Given the description of an element on the screen output the (x, y) to click on. 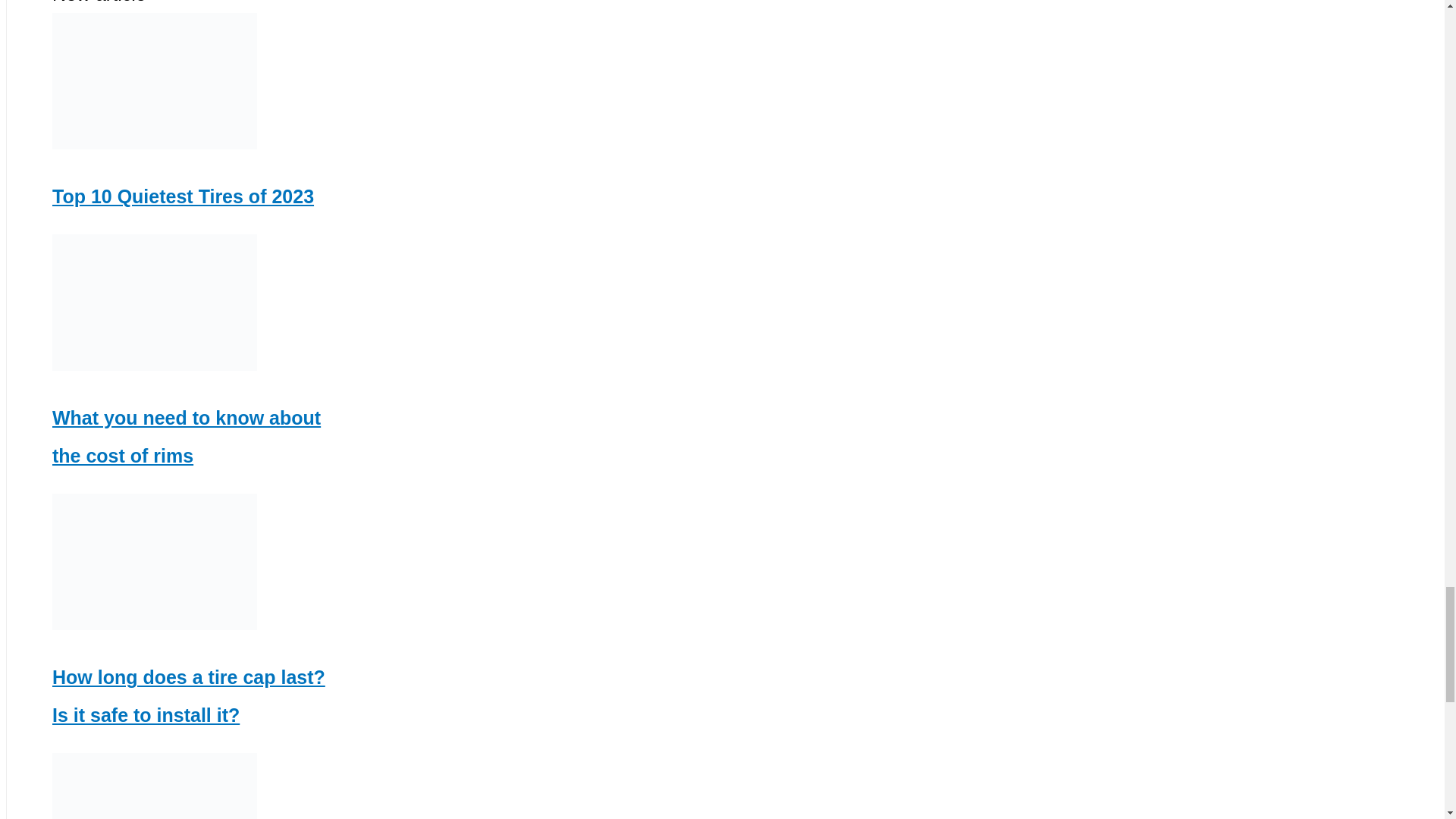
Top 10 Quietest Tires of 2023 (183, 196)
What you need to know about the cost of rims (186, 436)
How long does a tire cap last? Is it safe to install it? (188, 695)
